Given the description of an element on the screen output the (x, y) to click on. 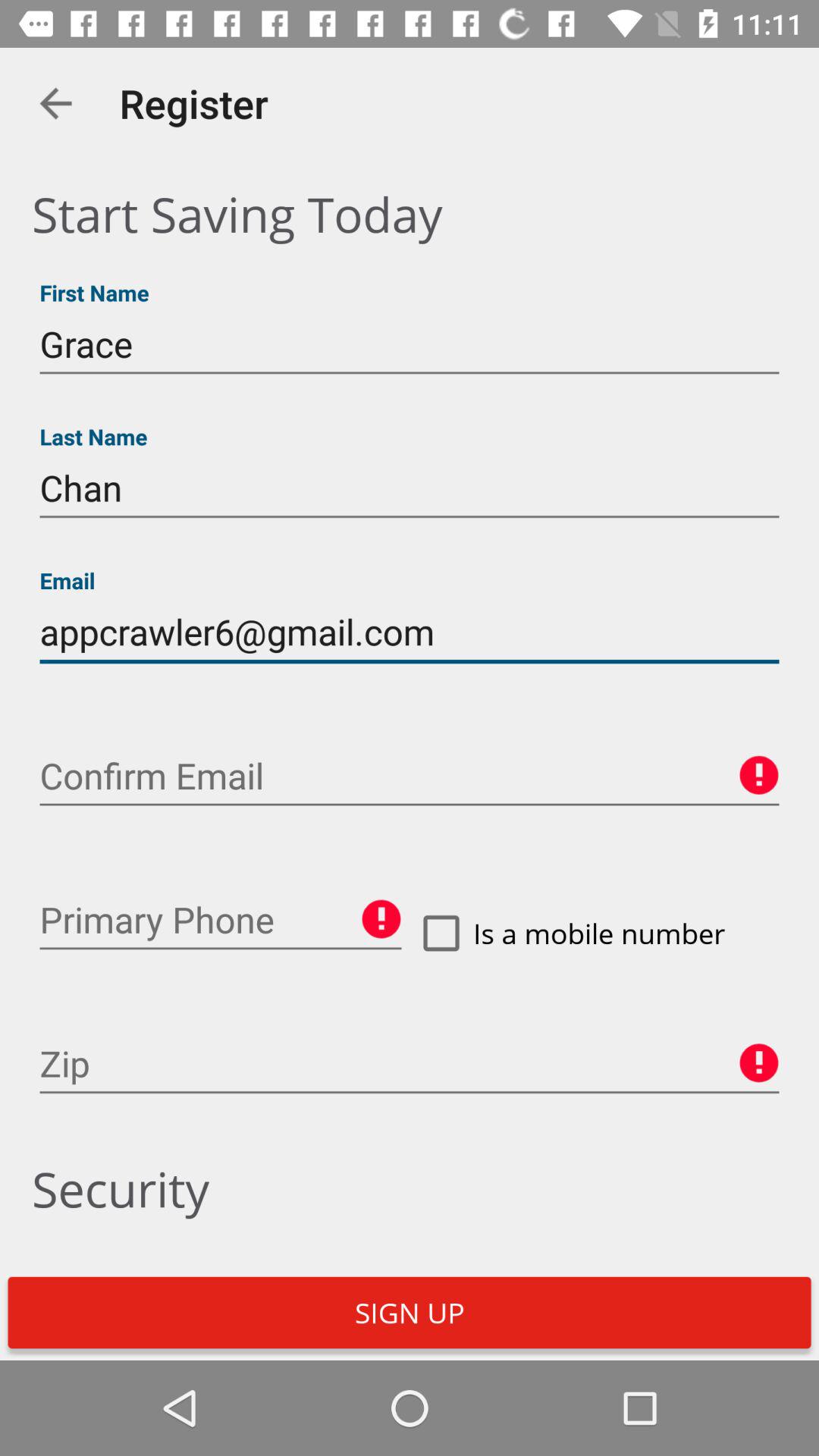
password page (409, 776)
